Given the description of an element on the screen output the (x, y) to click on. 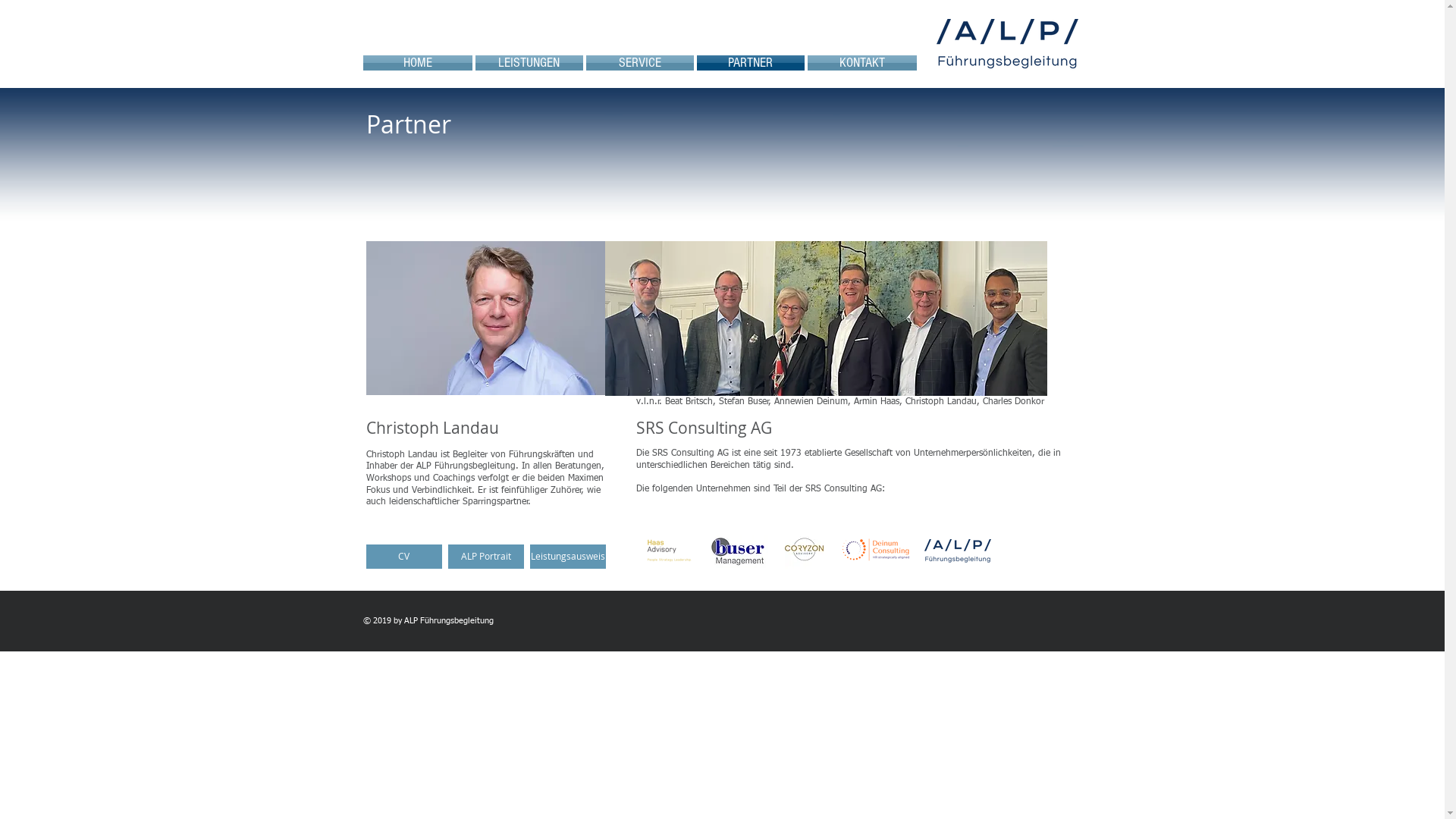
CV Element type: text (403, 556)
HOME Element type: text (417, 62)
PARTNER Element type: text (749, 62)
KONTAKT Element type: text (860, 62)
LEISTUNGEN Element type: text (528, 62)
Leistungsausweis Element type: text (567, 556)
SERVICE Element type: text (638, 62)
ALP Portrait Element type: text (485, 556)
